Given the description of an element on the screen output the (x, y) to click on. 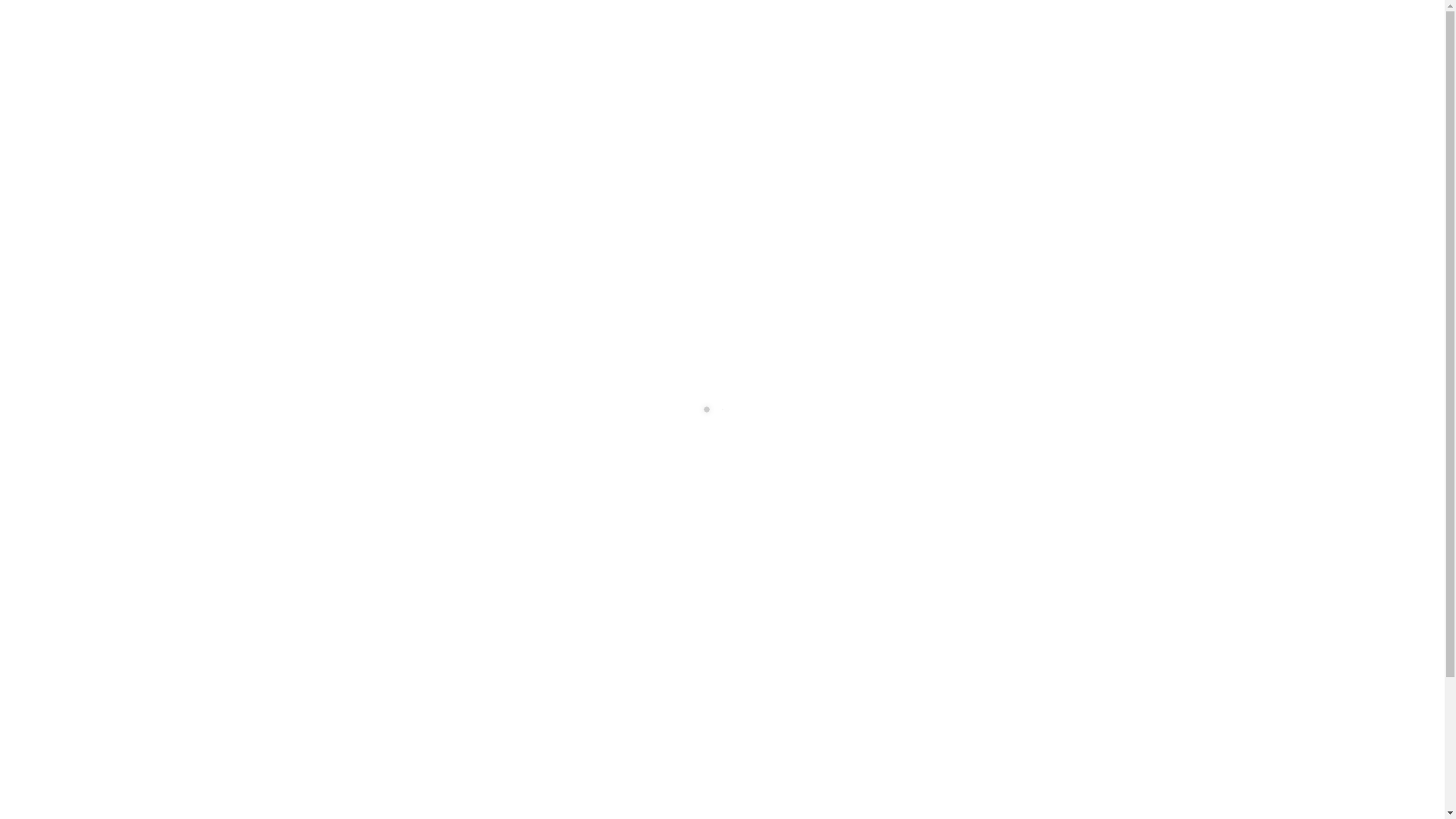
Contact Element type: text (944, 20)
Sign In Element type: text (804, 524)
Login Element type: text (680, 20)
Business Account Element type: text (745, 20)
Home Element type: text (496, 20)
Create Corporate Account Element type: text (633, 646)
Password Recovery Element type: text (825, 441)
Business List Element type: text (627, 20)
Create Business Account Element type: text (810, 646)
Values Element type: text (572, 20)
Create Corporate Account Element type: text (856, 20)
F A Q Element type: text (533, 20)
